Given the description of an element on the screen output the (x, y) to click on. 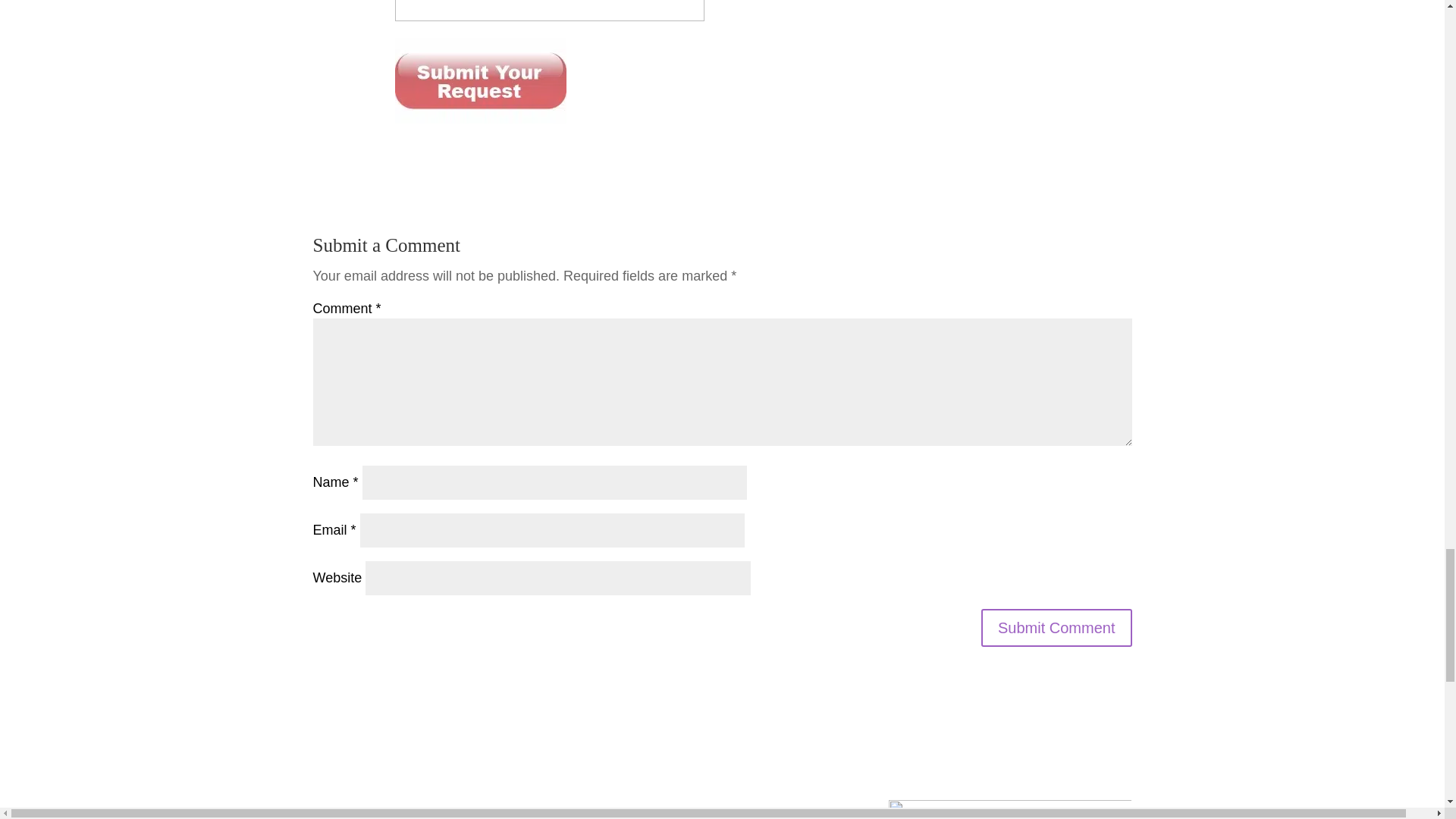
Submit Comment (1056, 628)
Submit Comment (1056, 628)
